Given the description of an element on the screen output the (x, y) to click on. 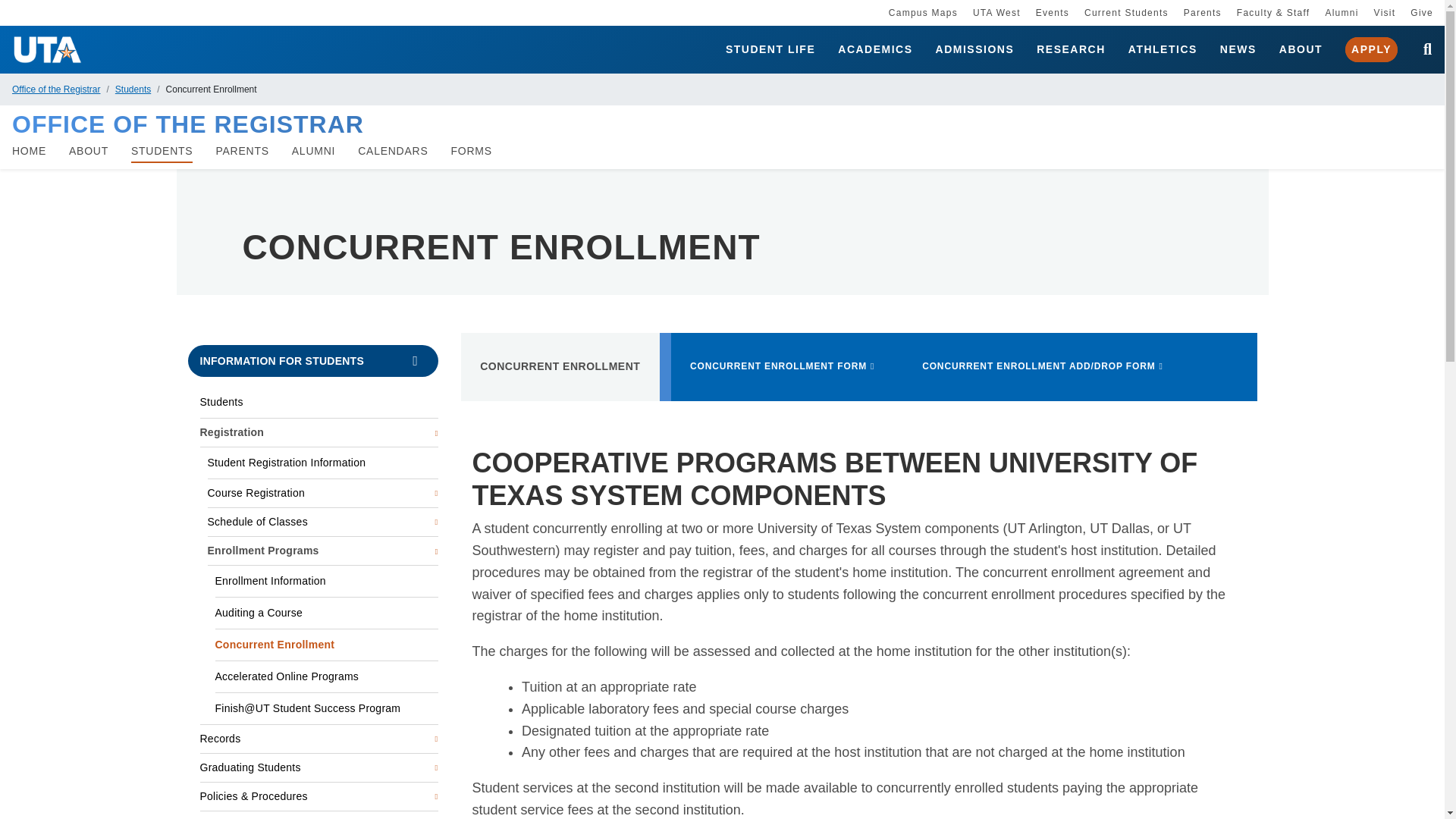
Current Students (1126, 12)
ACADEMICS (875, 49)
Alumni (1341, 12)
Parents (1202, 12)
Alumni (1341, 12)
UTA West (996, 12)
Campus Maps (923, 12)
Events (1051, 12)
Events (1051, 12)
U T A West (996, 12)
